Given the description of an element on the screen output the (x, y) to click on. 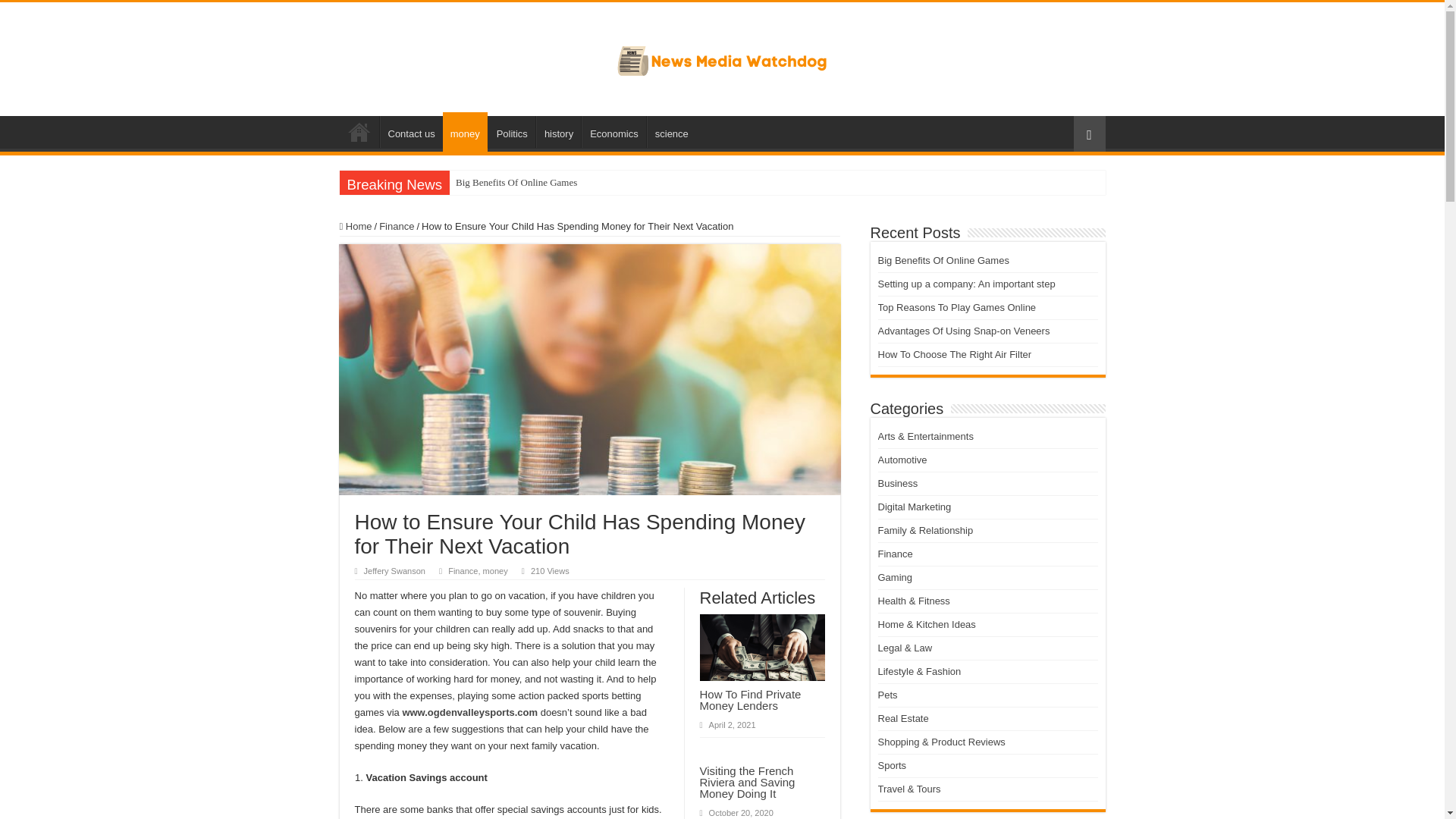
Visiting the French Riviera and Saving Money Doing It (746, 782)
Politics (511, 132)
Home (355, 225)
history (557, 132)
Finance (395, 225)
money (464, 131)
Jeffery Swanson (394, 570)
Big Benefits Of Online Games (516, 182)
Home (358, 132)
News Media Watch Dog (721, 55)
